Given the description of an element on the screen output the (x, y) to click on. 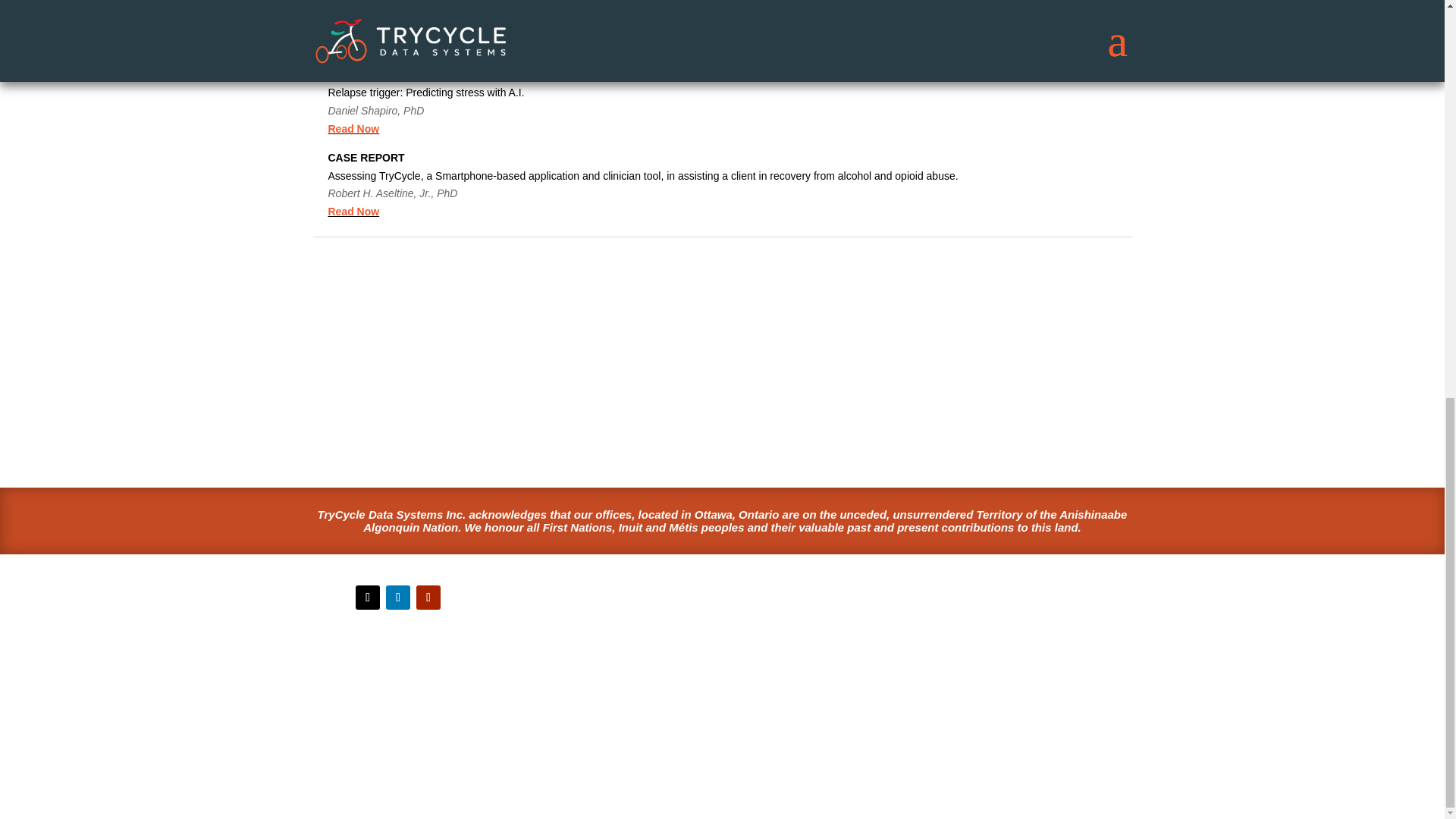
Follow on LinkedIn (397, 597)
Follow on X (367, 597)
Follow on Youtube (428, 597)
Read Now (352, 46)
